Given the description of an element on the screen output the (x, y) to click on. 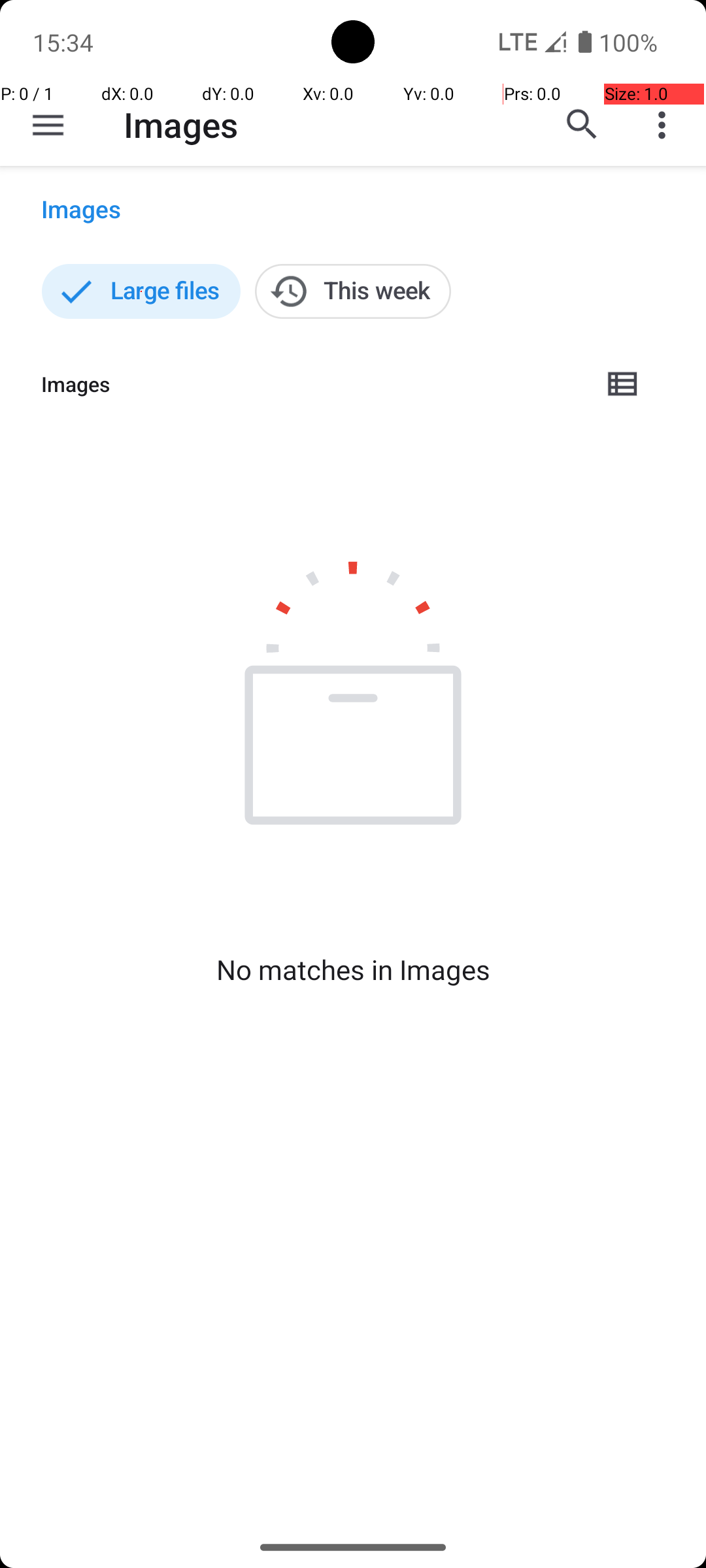
No matches in Images Element type: android.widget.TextView (352, 968)
